Given the description of an element on the screen output the (x, y) to click on. 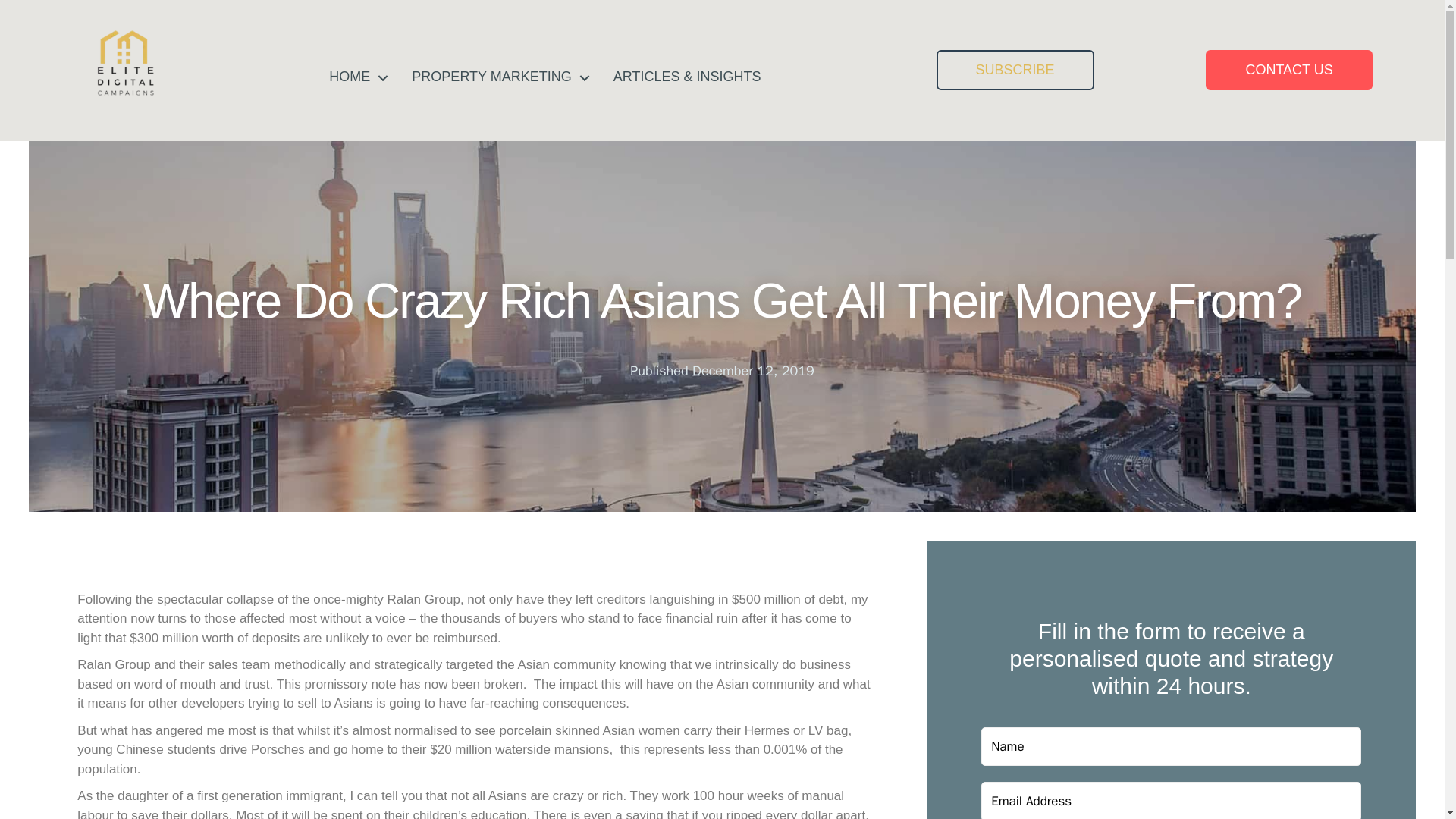
HOME (355, 77)
SUBSCRIBE (1015, 69)
CONTACT US (1288, 69)
logo (125, 62)
PROPERTY MARKETING (496, 77)
